Given the description of an element on the screen output the (x, y) to click on. 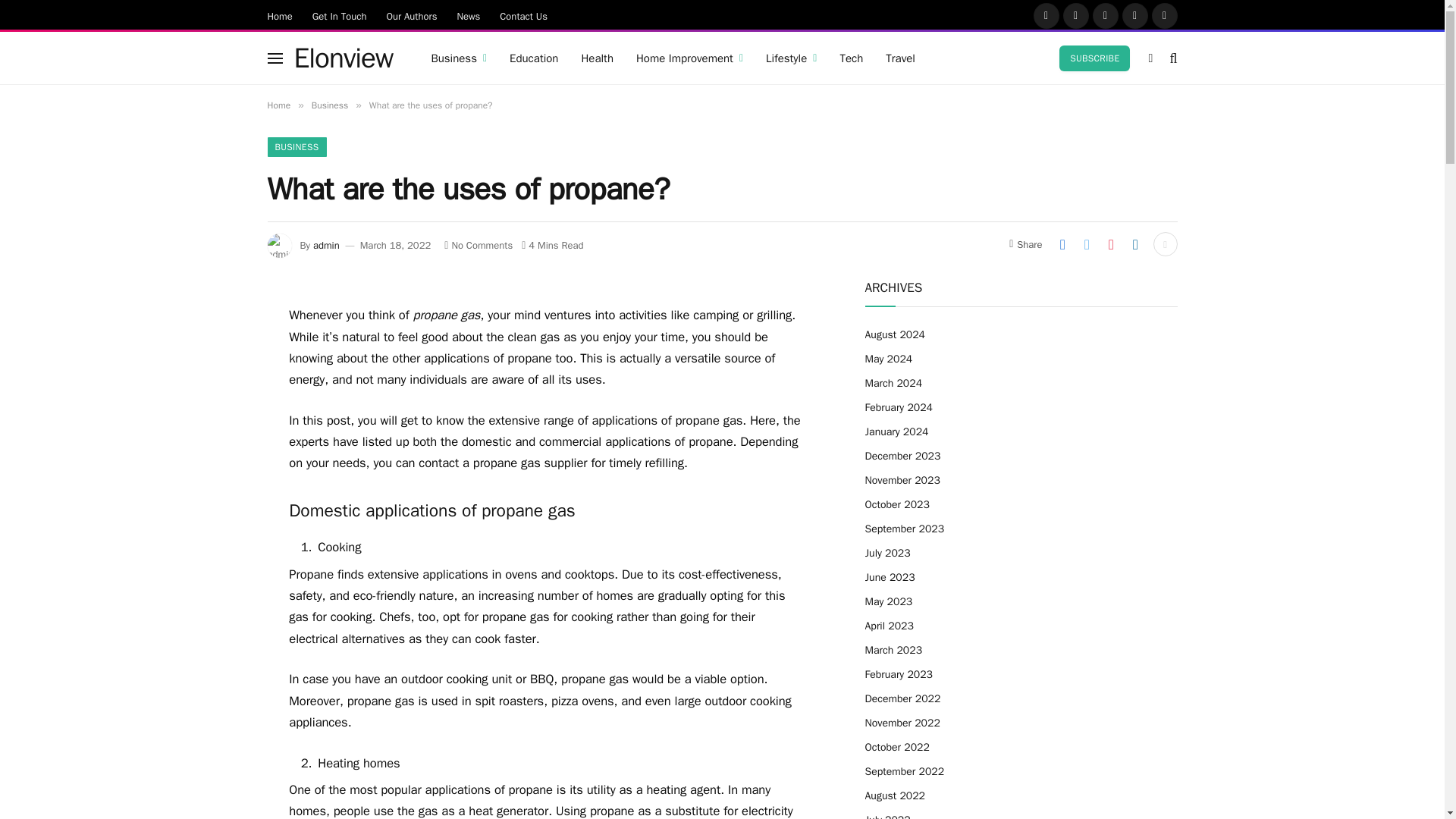
Instagram (1105, 15)
Contact Us (523, 15)
Get In Touch (339, 15)
Pinterest (1135, 15)
Elonview (343, 57)
Business (458, 57)
Elonview (343, 57)
Vimeo (1163, 15)
Facebook (1045, 15)
News (467, 15)
